Given the description of an element on the screen output the (x, y) to click on. 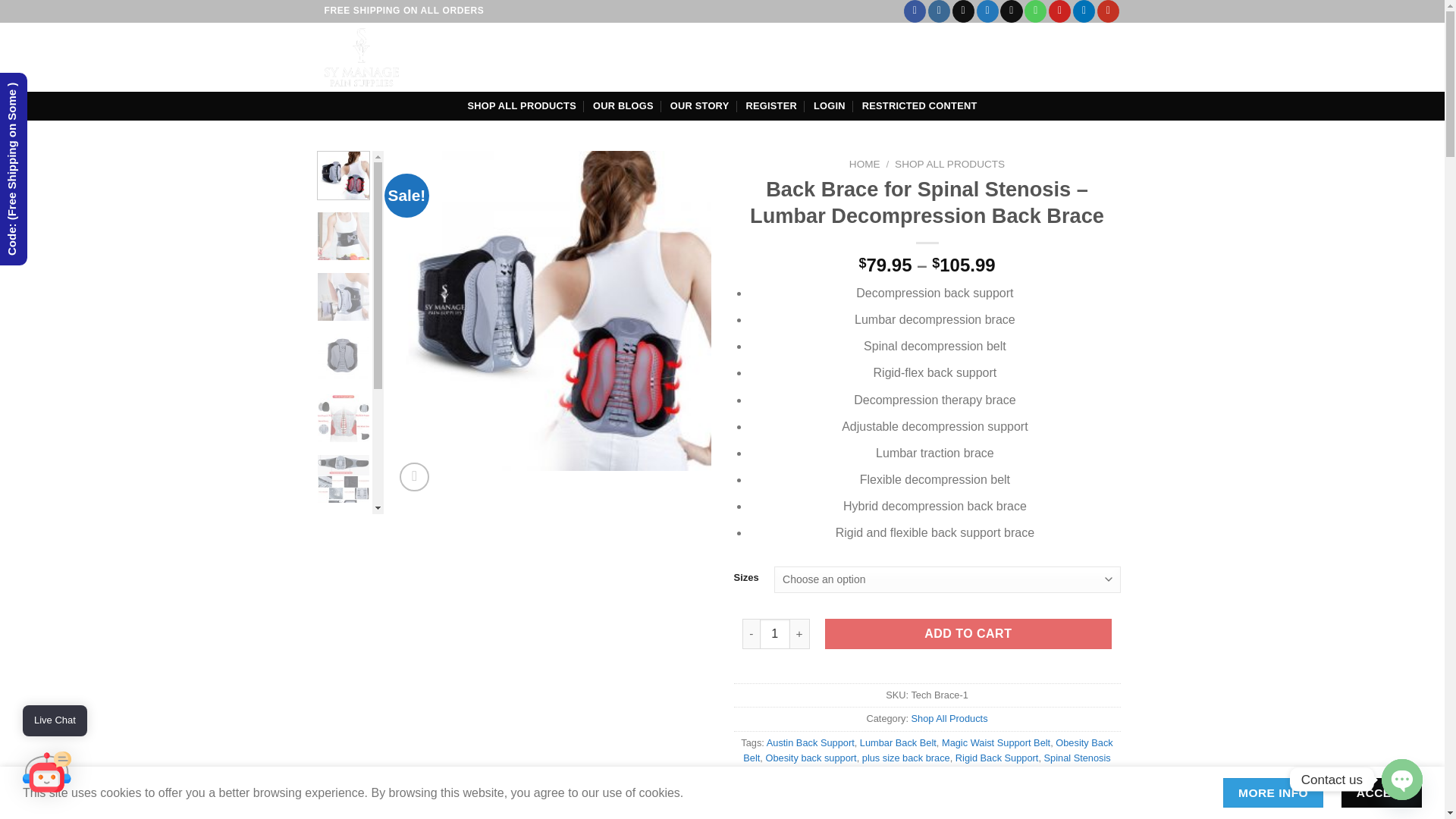
REGISTER (770, 105)
Send us an email (1011, 11)
Follow on YouTube (1108, 11)
RESTRICTED CONTENT (918, 105)
OUR STORY (699, 105)
Cart (1092, 57)
SHOP ALL PRODUCTS (521, 105)
Zoom (413, 477)
- (750, 634)
Call us (1035, 11)
Follow on Pinterest (1059, 11)
Follow on Facebook (915, 11)
Follow on TikTok (963, 11)
Follow on LinkedIn (1083, 11)
